Given the description of an element on the screen output the (x, y) to click on. 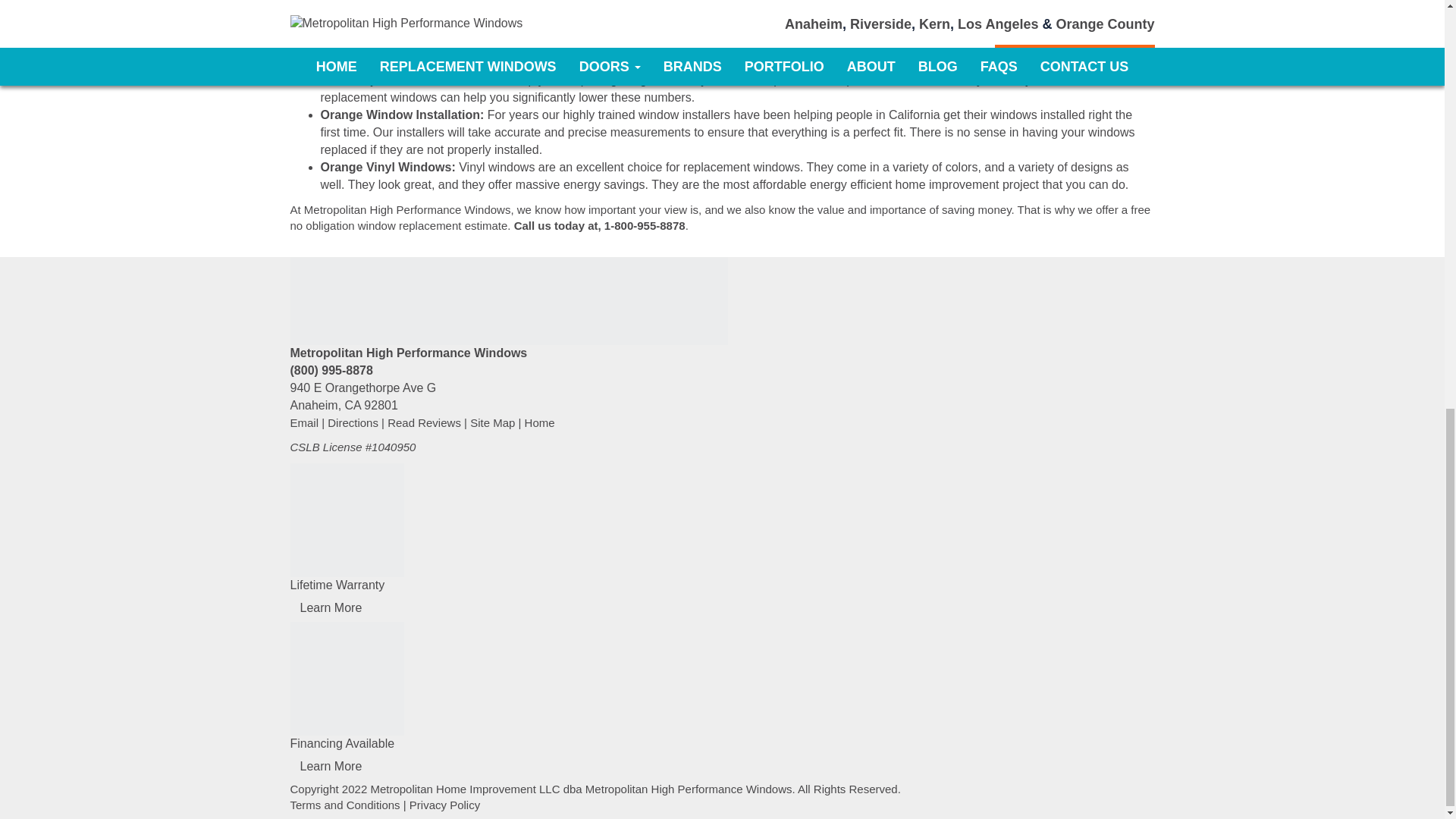
Metropolitan High Performance Windows (507, 300)
Windows Lifetime Warranty (346, 520)
Financing Available (346, 678)
Read Reviews (424, 422)
Call us today at, 1-800-955-8878 (599, 225)
Home (539, 422)
Site Map (492, 422)
Directions (352, 422)
Email (303, 422)
